Given the description of an element on the screen output the (x, y) to click on. 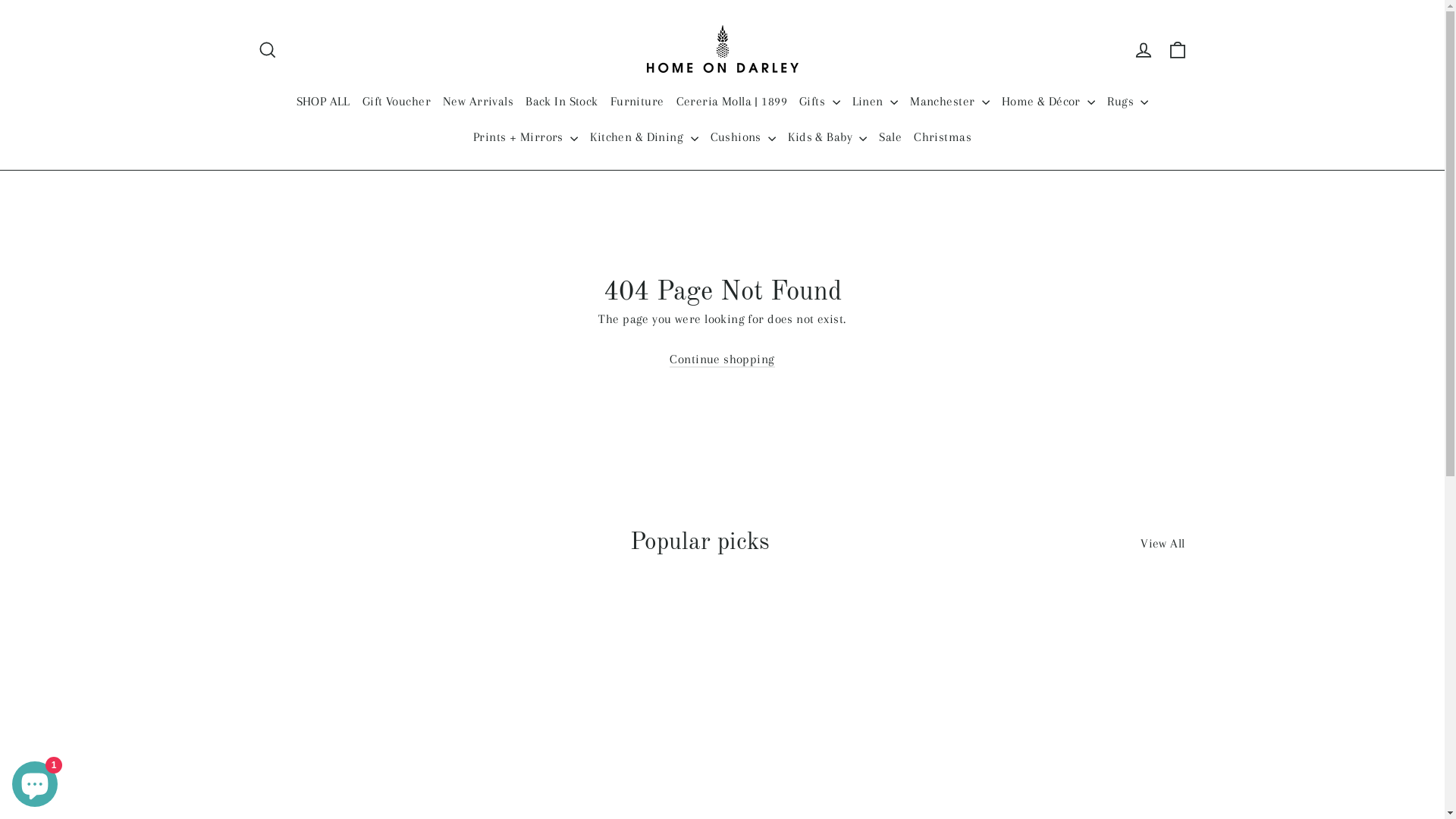
Manchester Element type: text (949, 101)
Rugs Element type: text (1127, 101)
Search Element type: text (266, 48)
Shopify online store chat Element type: hover (34, 780)
Back In Stock Element type: text (561, 101)
Continue shopping Element type: text (721, 359)
SHOP ALL Element type: text (323, 101)
Cart Element type: text (1176, 48)
Kids & Baby Element type: text (826, 136)
Linen Element type: text (875, 101)
Cereria Molla | 1899 Element type: text (731, 101)
Log in Element type: text (1143, 48)
Cushions Element type: text (742, 136)
Sale Element type: text (889, 136)
Gifts Element type: text (819, 101)
Christmas Element type: text (942, 136)
Prints + Mirrors Element type: text (525, 136)
New Arrivals Element type: text (477, 101)
. Element type: text (0, 0)
Gift Voucher Element type: text (396, 101)
View All Element type: text (1162, 540)
Kitchen & Dining Element type: text (643, 136)
Furniture Element type: text (637, 101)
